Given the description of an element on the screen output the (x, y) to click on. 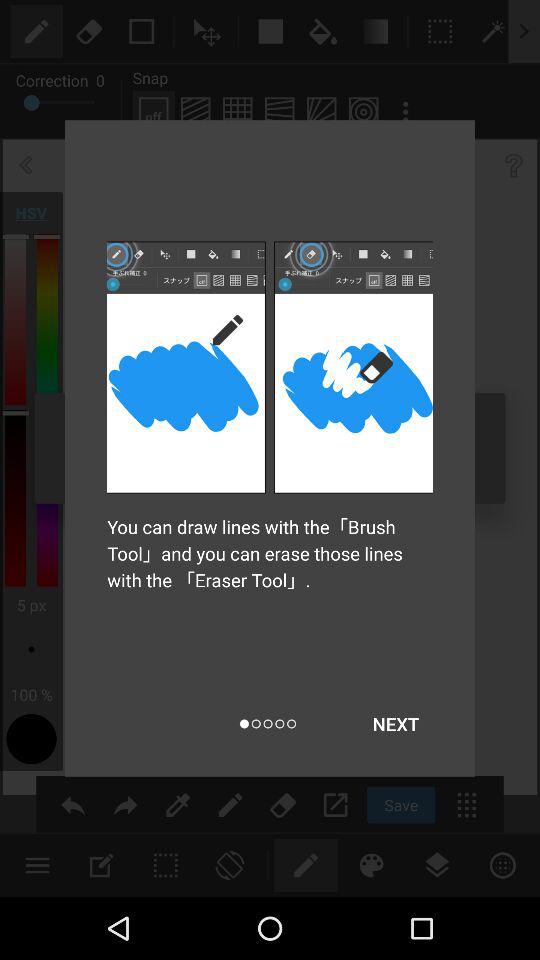
flip until the next (395, 723)
